Given the description of an element on the screen output the (x, y) to click on. 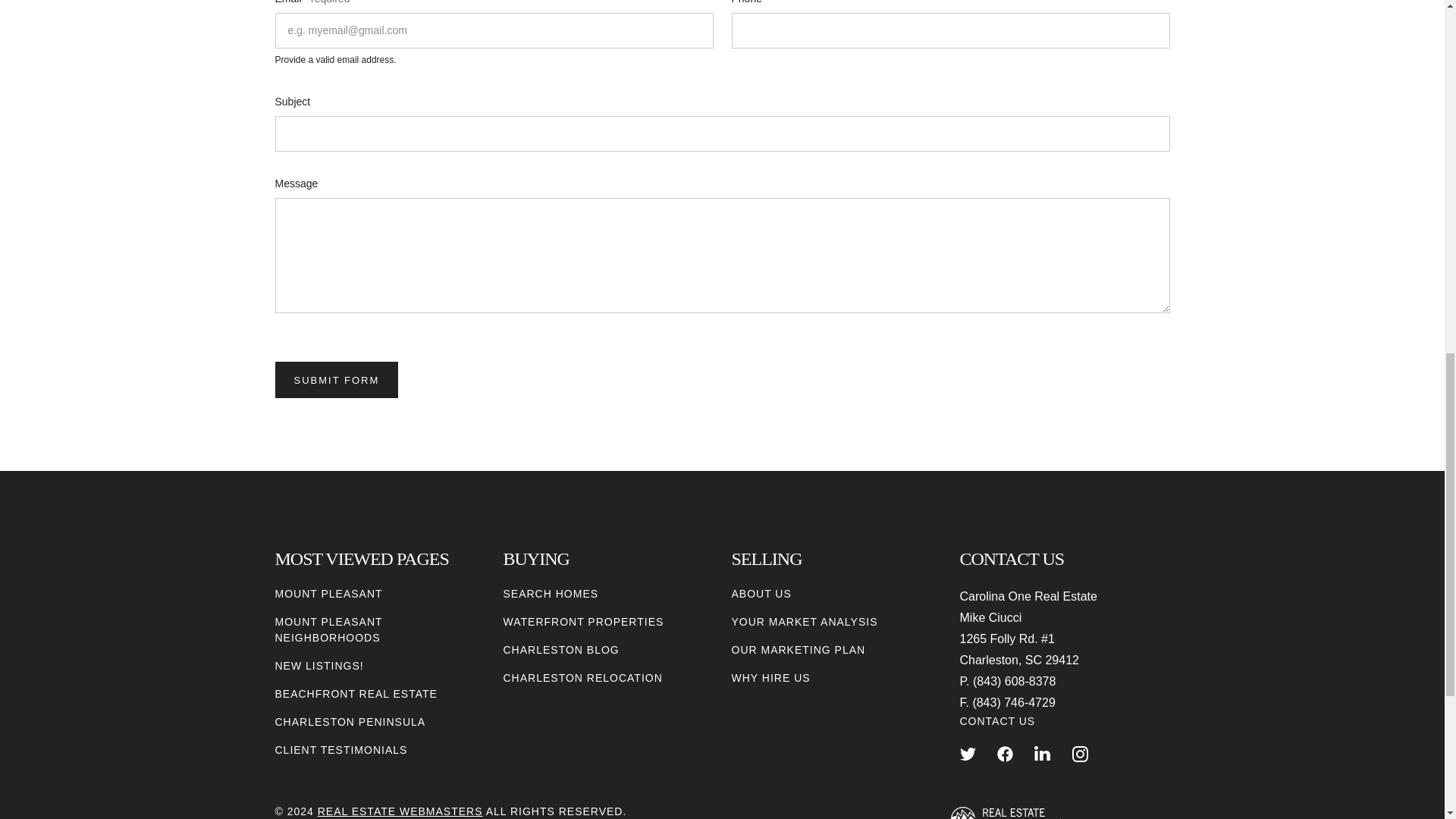
TWITTER (967, 754)
FACEBOOK (1005, 754)
LINKEDIN (1041, 754)
